Given the description of an element on the screen output the (x, y) to click on. 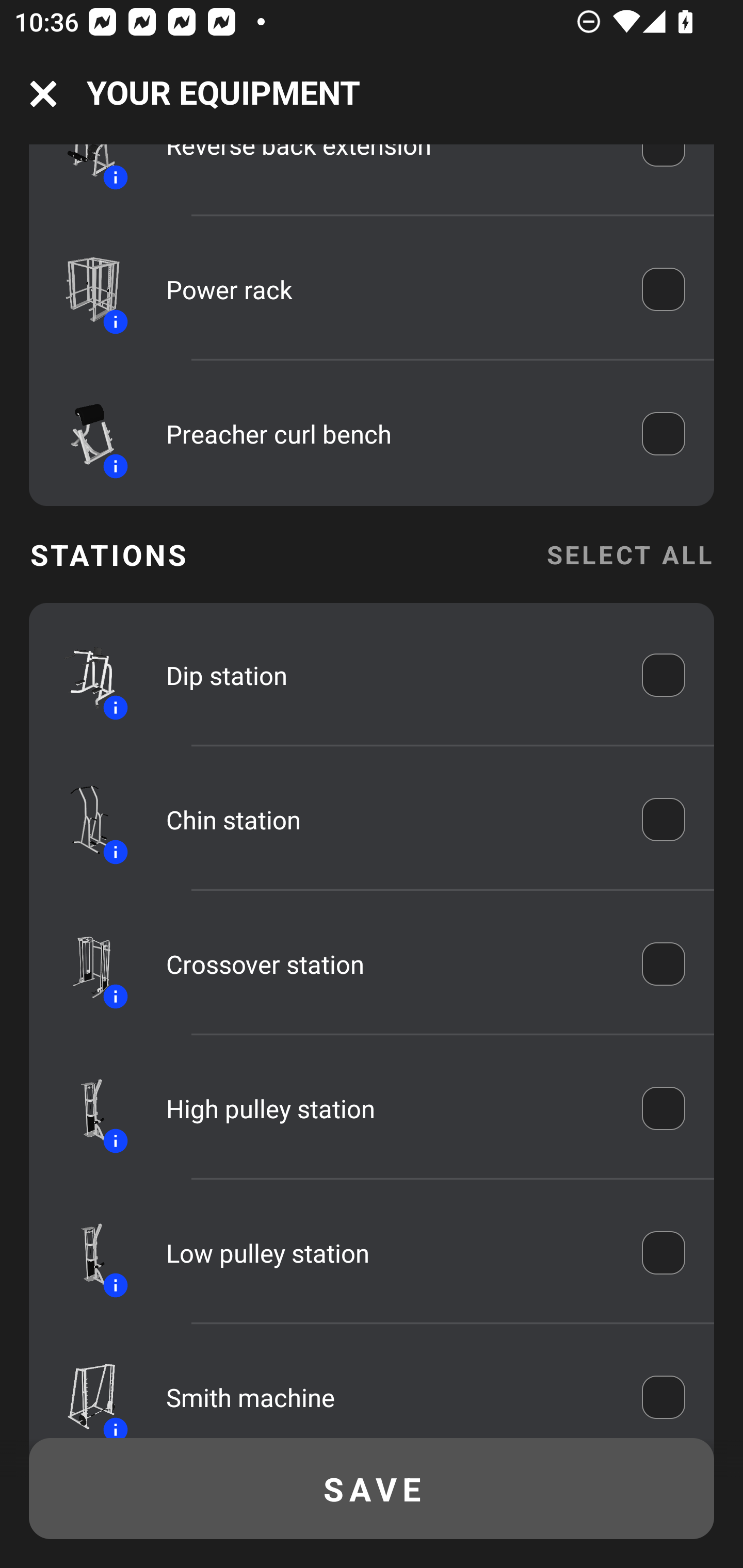
Navigation icon (43, 93)
Equipment icon Information icon (82, 171)
Reverse back extension (389, 166)
Equipment icon Information icon (82, 289)
Power rack (389, 289)
Equipment icon Information icon (82, 433)
Preacher curl bench (389, 433)
SELECT ALL (629, 554)
Equipment icon Information icon (82, 674)
Dip station (389, 674)
Equipment icon Information icon (82, 819)
Chin station (389, 819)
Equipment icon Information icon (82, 963)
Crossover station (389, 963)
Equipment icon Information icon (82, 1107)
High pulley station (389, 1108)
Equipment icon Information icon (82, 1252)
Low pulley station (389, 1252)
Equipment icon Information icon (82, 1390)
Smith machine (389, 1395)
SAVE (371, 1488)
